Given the description of an element on the screen output the (x, y) to click on. 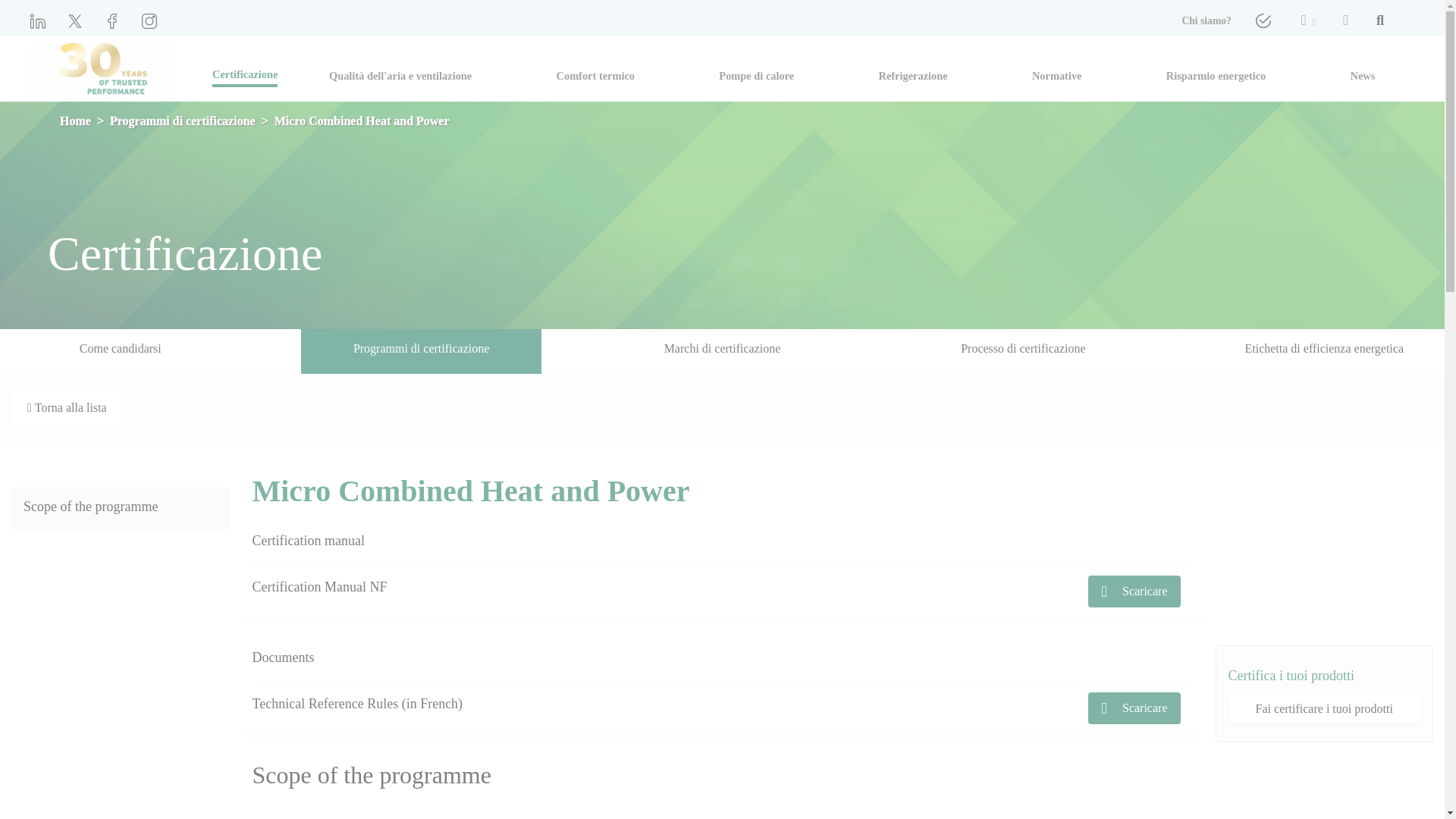
Pompe di calore (756, 71)
Chi siamo? (1205, 21)
Refrigerazione (912, 71)
Risparmio energetico (1215, 71)
Normative (1056, 71)
Certificazione (244, 74)
News (1362, 71)
Comfort termico (595, 71)
